Given the description of an element on the screen output the (x, y) to click on. 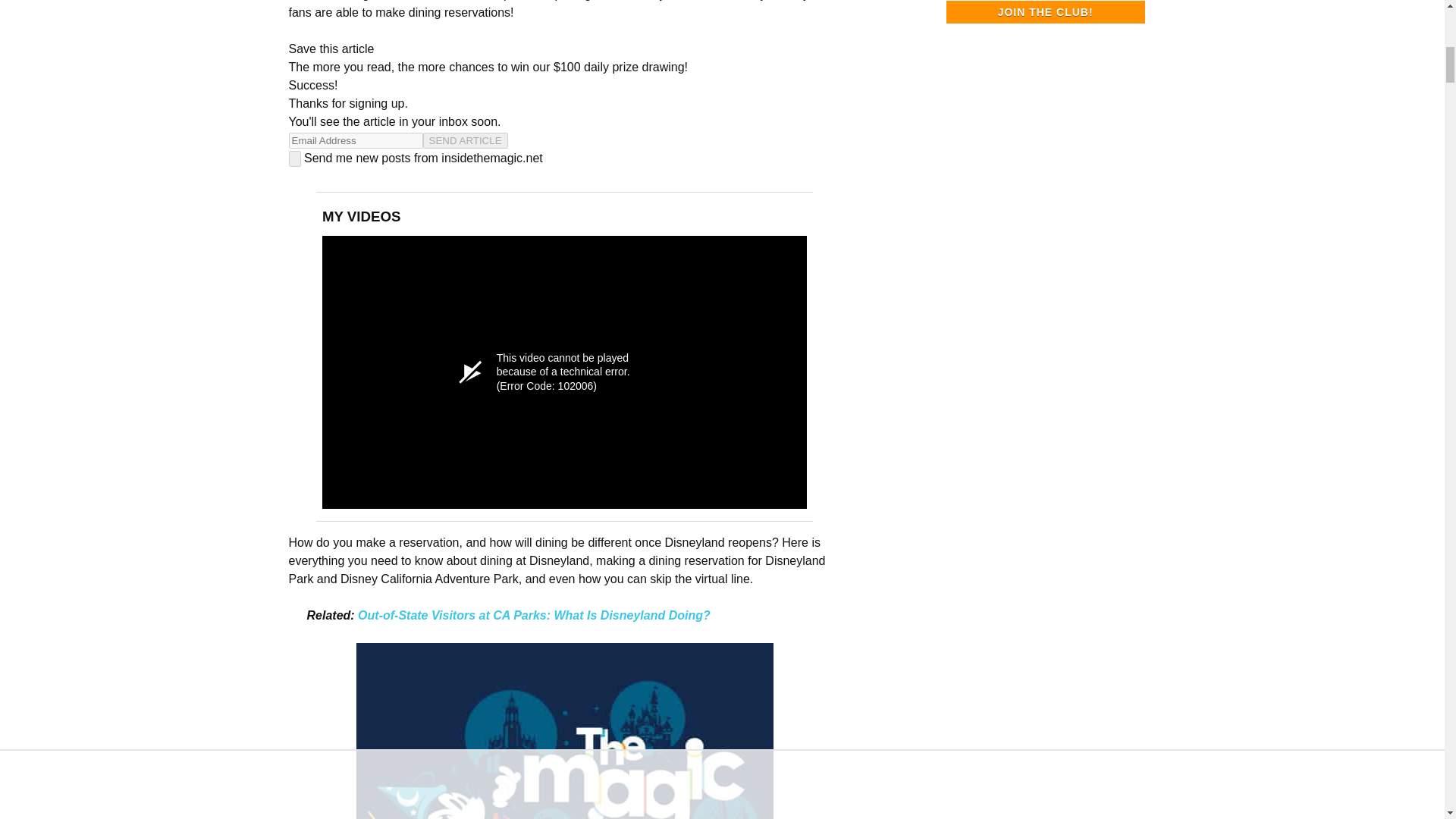
Join The Club! (1045, 11)
